Given the description of an element on the screen output the (x, y) to click on. 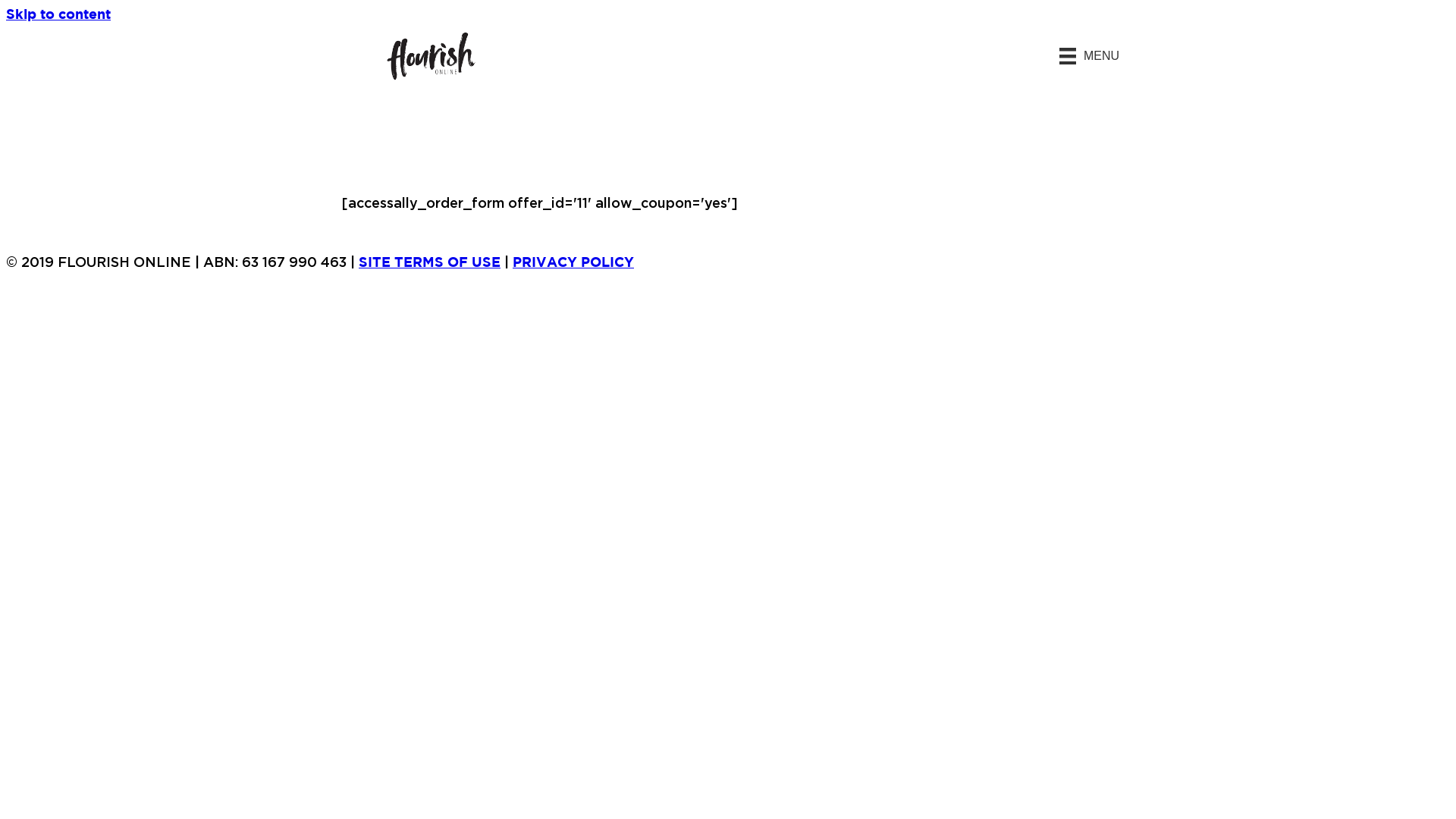
SITE TERMS OF USE Element type: text (429, 263)
flourishonline-1 (1) Element type: hover (430, 55)
PRIVACY POLICY Element type: text (572, 263)
Skip to content Element type: text (58, 15)
MENU Element type: text (1089, 56)
